Given the description of an element on the screen output the (x, y) to click on. 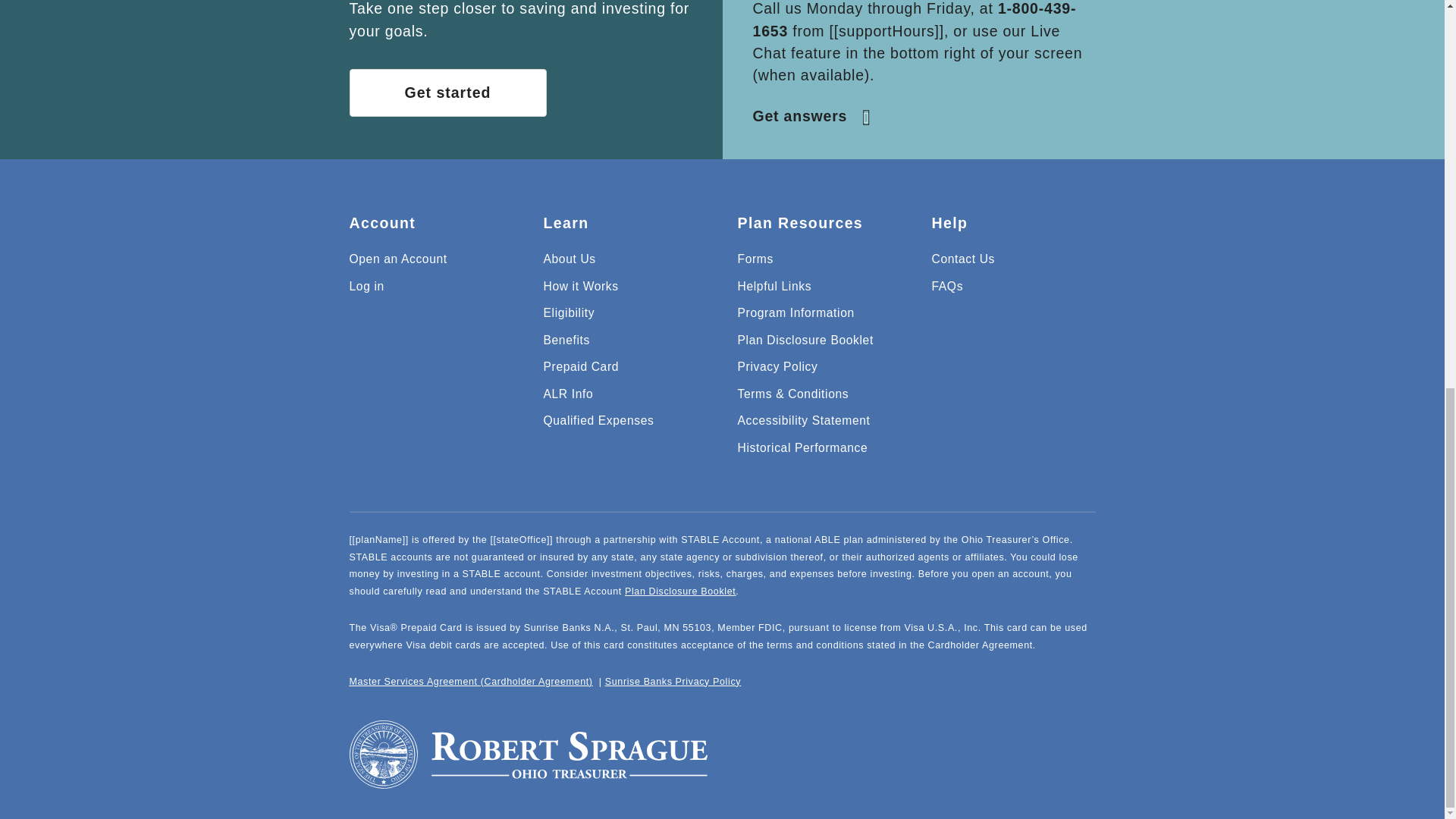
ALR Info (567, 393)
Eligibility (568, 312)
Historical Performance (801, 447)
Contact Us (962, 258)
Get answers (812, 115)
FAQs (946, 286)
Program Information (794, 312)
Open an Account (397, 258)
About Us (569, 258)
Benefits (566, 339)
